Given the description of an element on the screen output the (x, y) to click on. 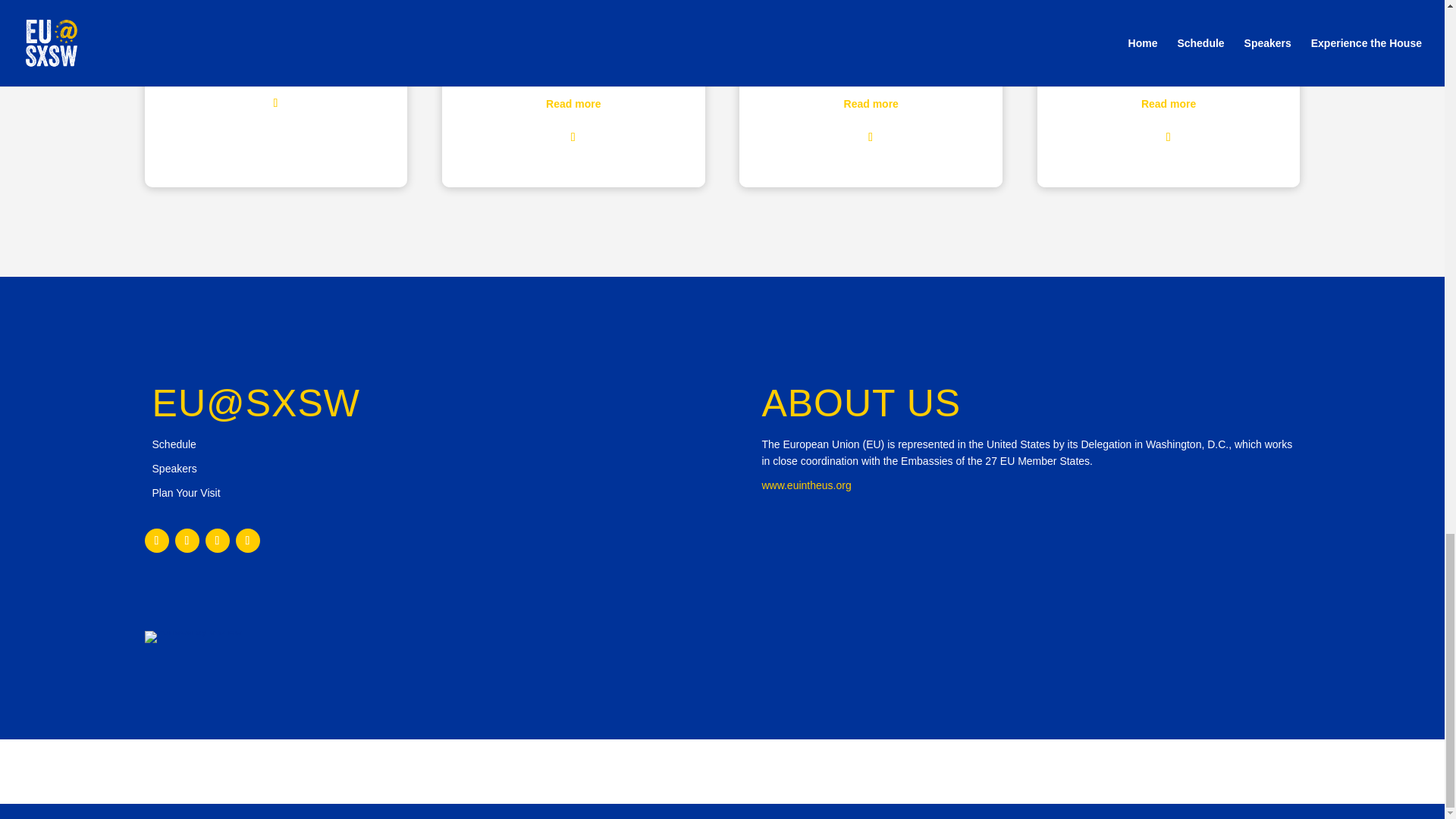
www.euintheus.org (805, 485)
Follow on Twitter (156, 540)
Follow on Facebook (186, 540)
Read more (871, 103)
Read more (275, 69)
2 (192, 636)
Read more (572, 103)
Follow on Instagram (216, 540)
Read more (1168, 103)
Follow on LinkedIn (246, 540)
